Given the description of an element on the screen output the (x, y) to click on. 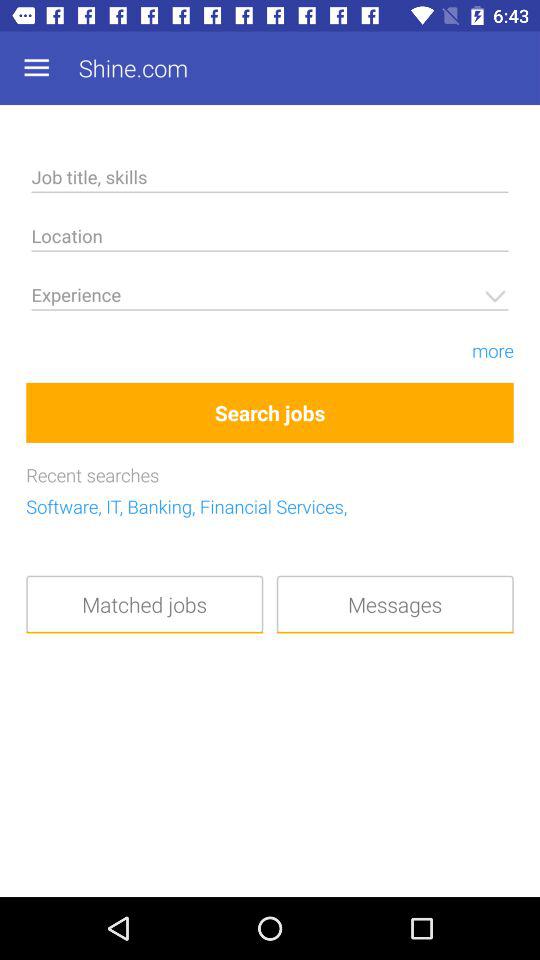
enter job title skills (269, 180)
